Given the description of an element on the screen output the (x, y) to click on. 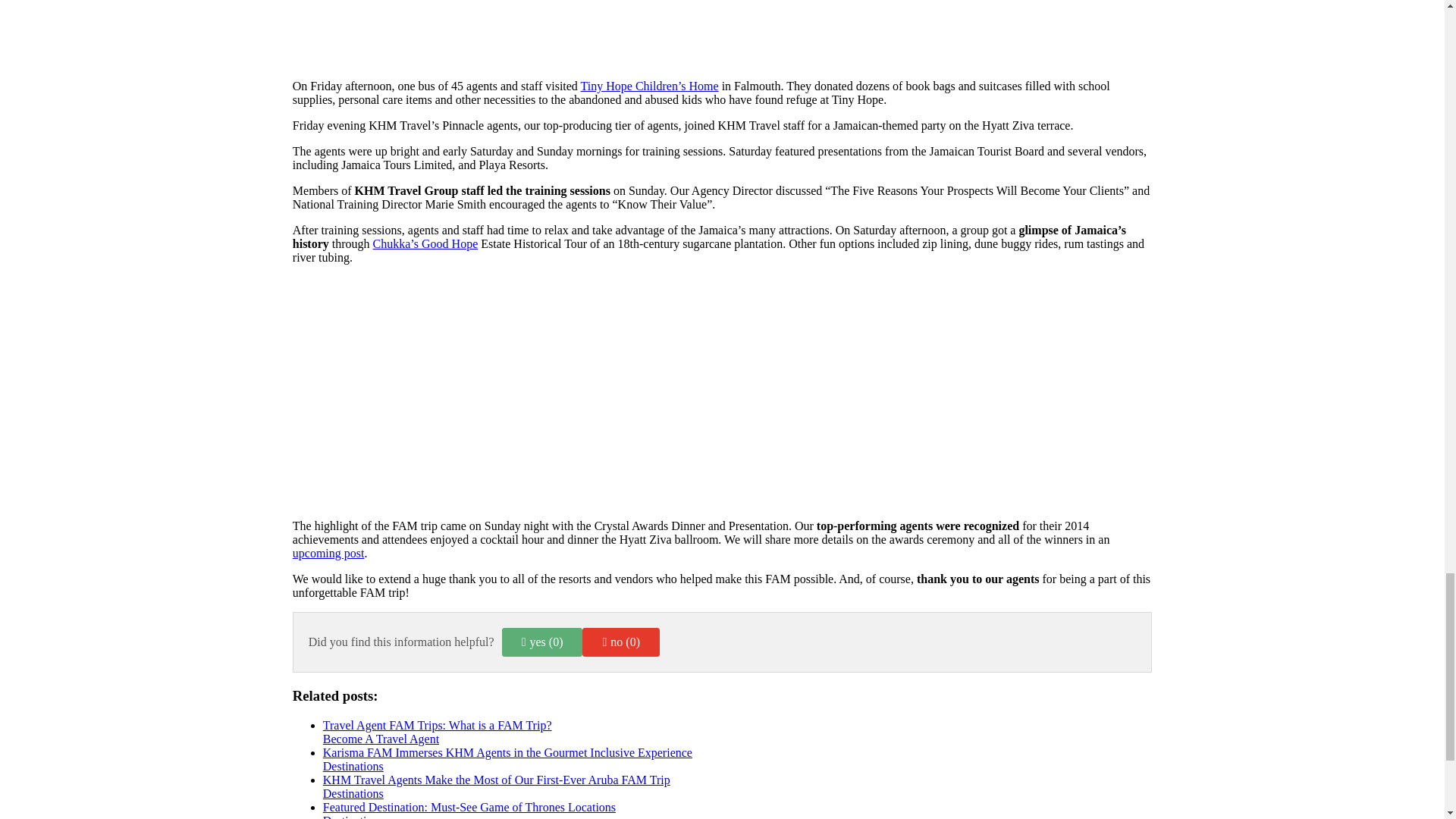
Tiny Hope Children's Home (649, 85)
KHM Travel Group 2014 Crystal Award winners (328, 553)
Chukka Good Hope (425, 243)
